Given the description of an element on the screen output the (x, y) to click on. 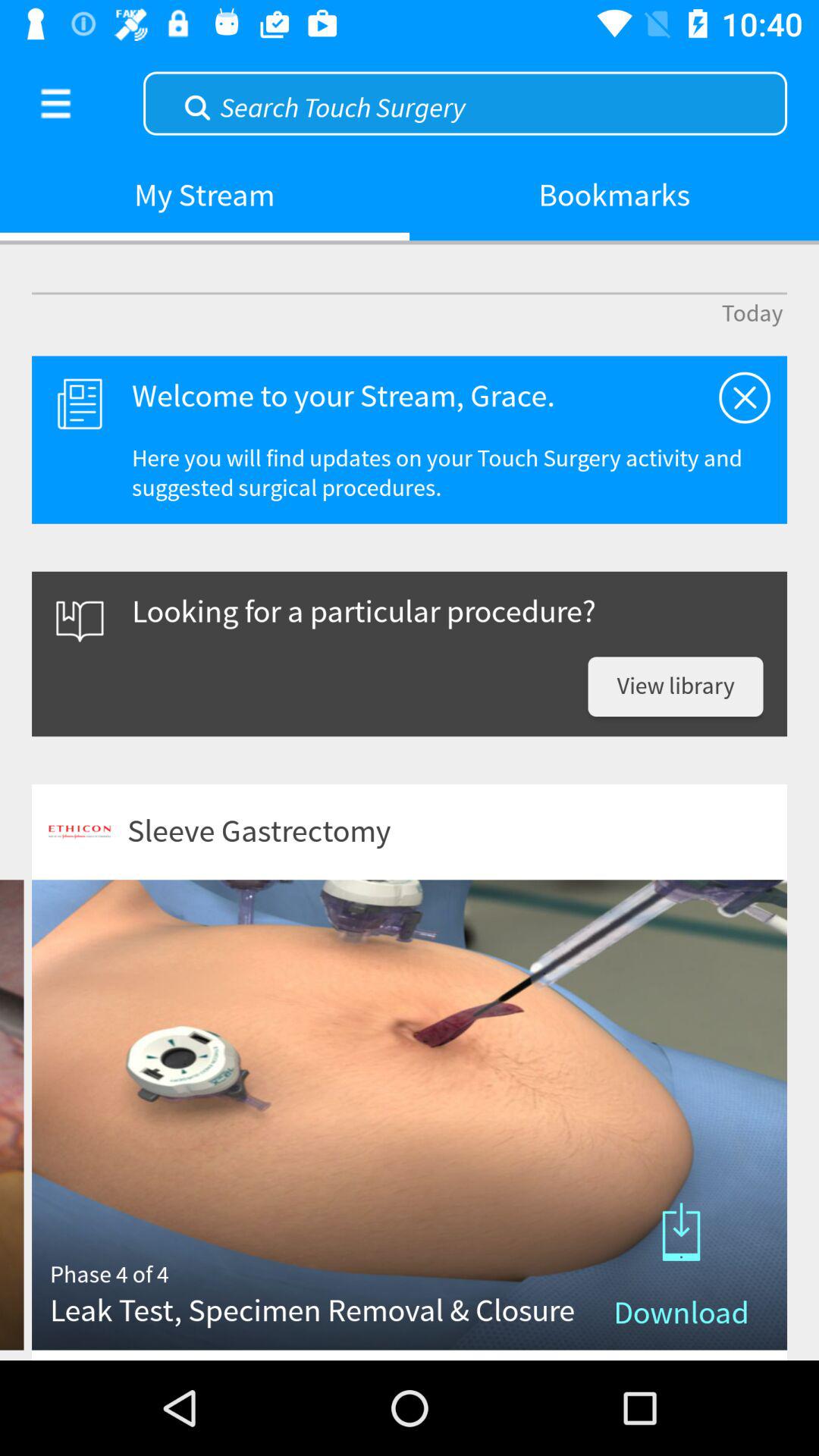
turn off the icon to the right of welcome to your item (744, 397)
